Given the description of an element on the screen output the (x, y) to click on. 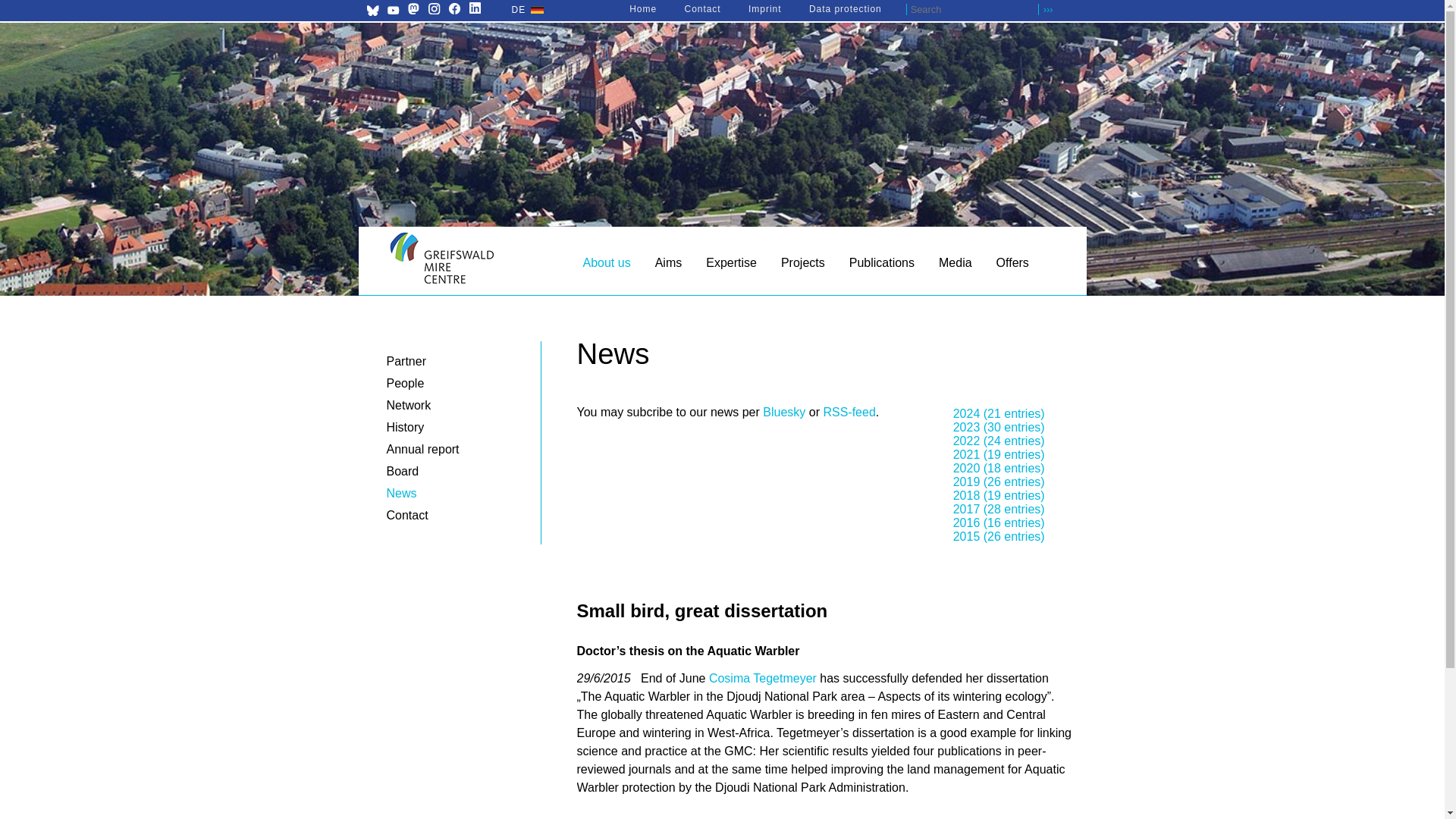
GMC on YouTube (392, 10)
GMC on Facebook (453, 7)
GMC on Instagram (434, 10)
Imprint (764, 9)
GMC on Mastodon (412, 10)
Contact (702, 9)
Skip navigation (364, 255)
Contact (702, 9)
Aims (668, 266)
Home (642, 9)
